Given the description of an element on the screen output the (x, y) to click on. 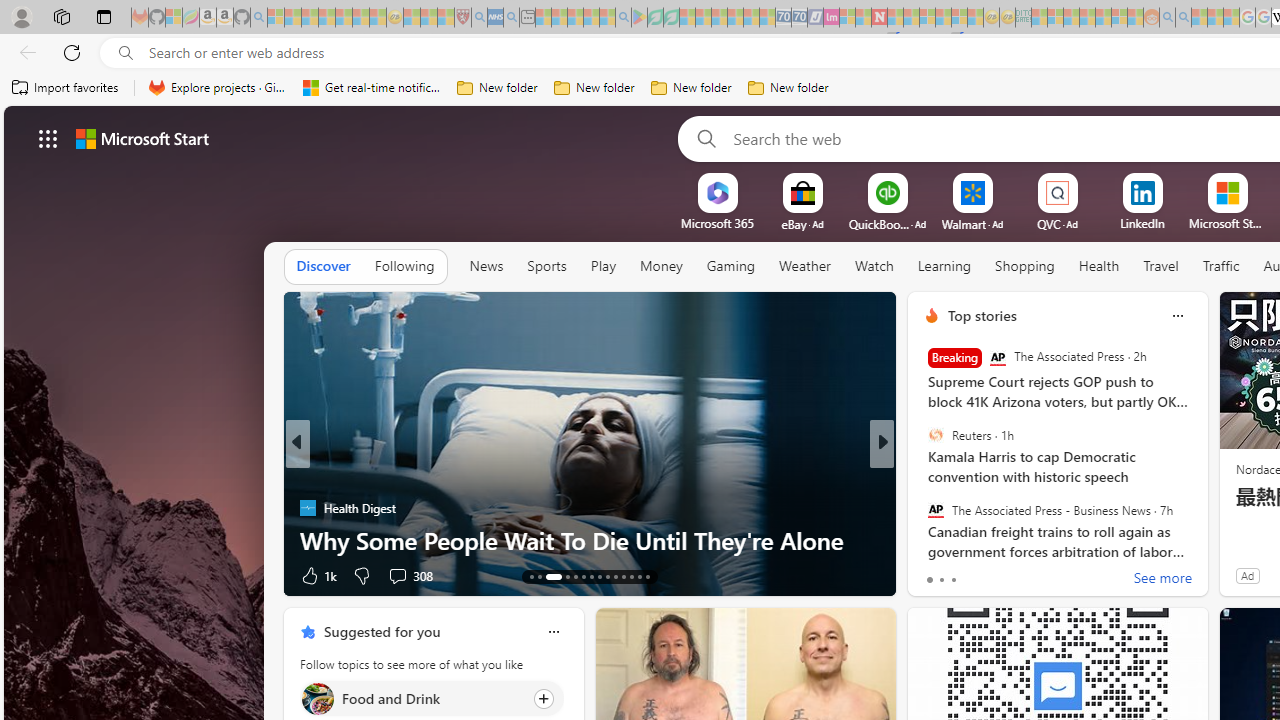
Money (660, 265)
Health (1099, 265)
Expert Portfolios - Sleeping (1087, 17)
View comments 3 Comment (1014, 575)
Dagens News (US) (923, 507)
Travel (1160, 265)
AutomationID: tab-21 (606, 576)
659 Like (936, 574)
Play (603, 267)
